Given the description of an element on the screen output the (x, y) to click on. 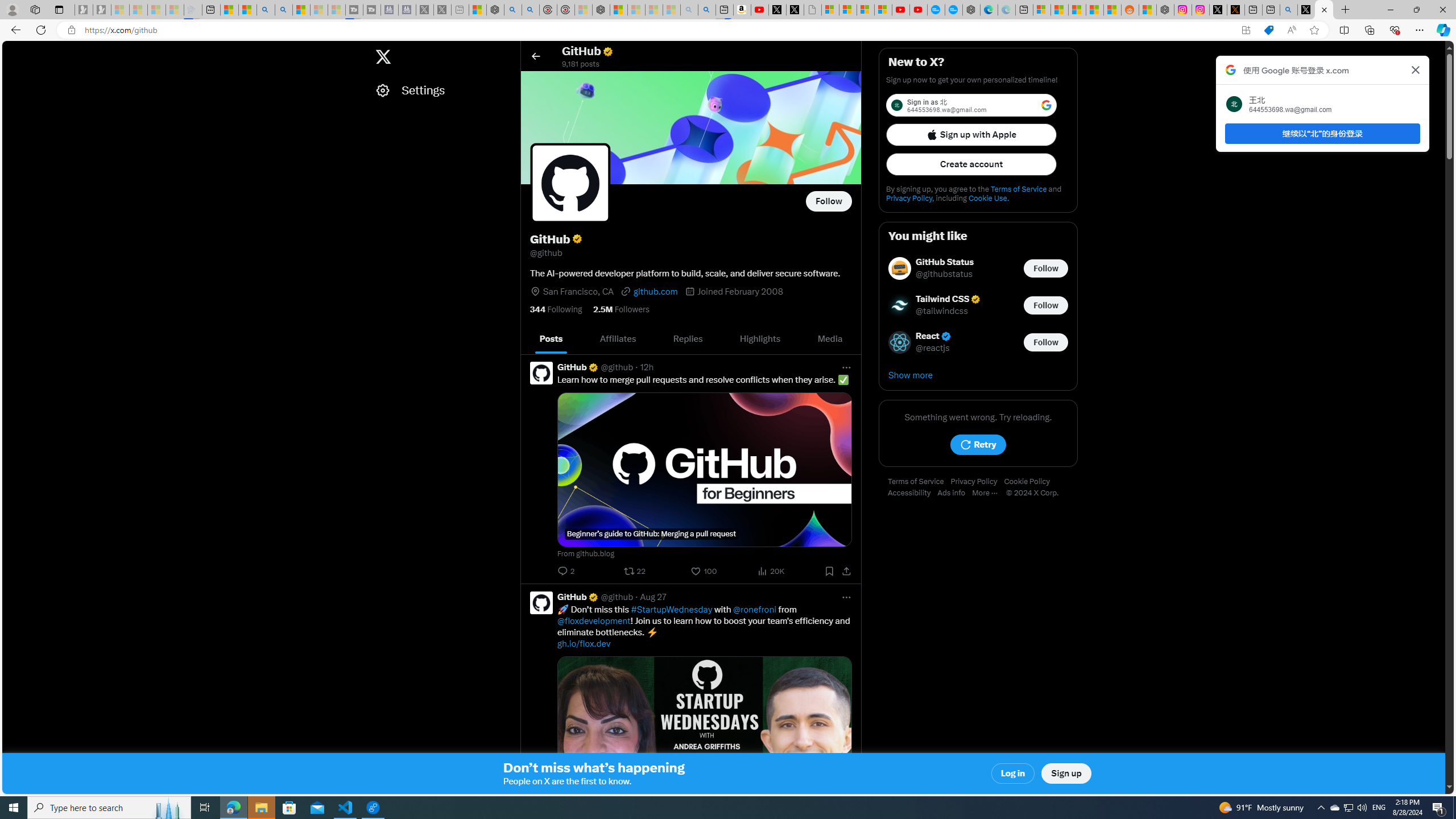
GitHub (@github) / X (1324, 9)
Follow @githubstatus (1045, 267)
Ads info (954, 492)
@tailwindcss (941, 311)
Cookie Use. (988, 198)
App available. Install X (1245, 29)
Gloom - YouTube (900, 9)
Log in to X / X (1217, 9)
2 Replies. Reply (566, 571)
@floxdevelopment (593, 620)
100 Likes. Like (704, 571)
